Given the description of an element on the screen output the (x, y) to click on. 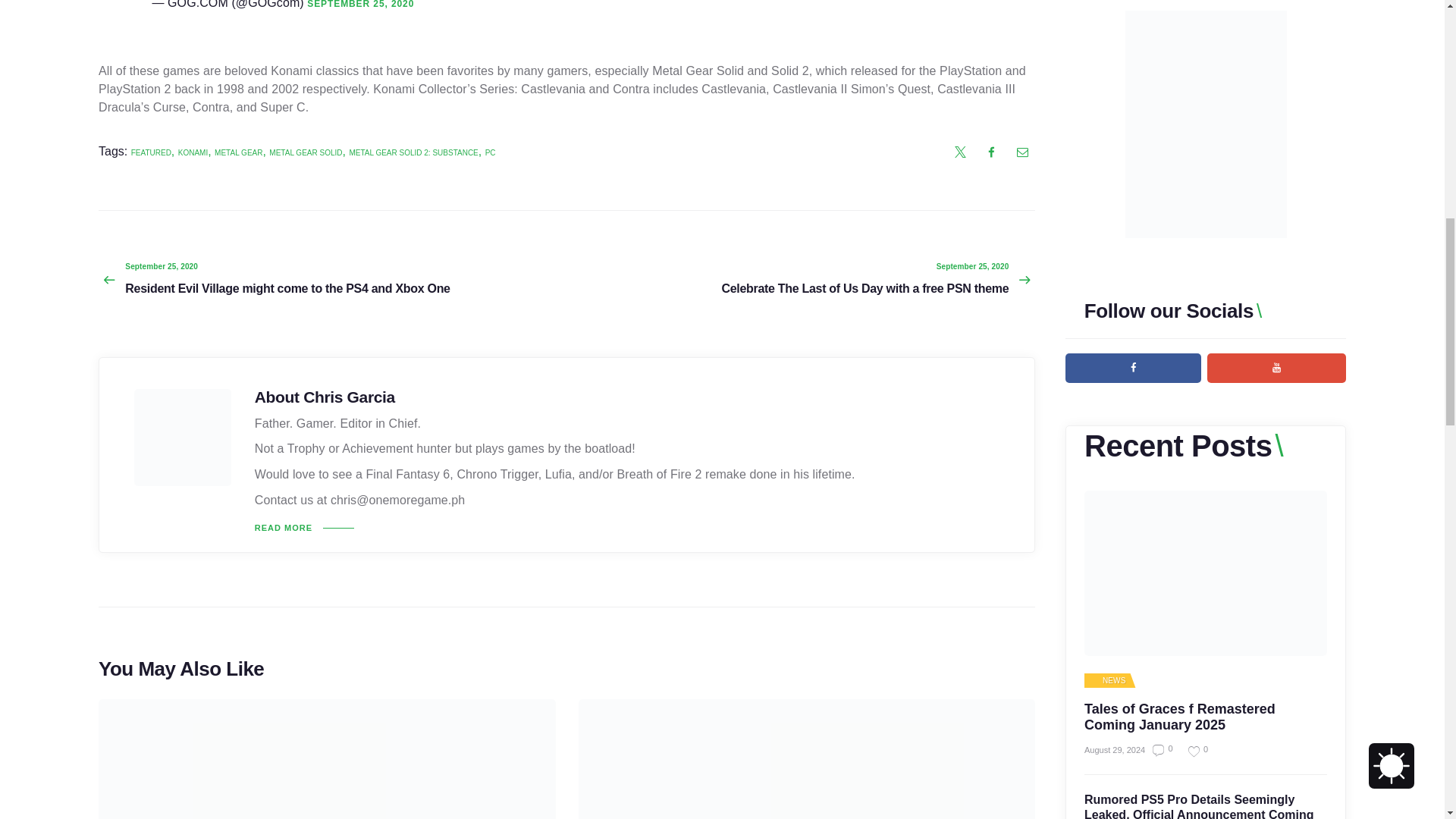
SEPTEMBER 25, 2020 (360, 4)
FEATURED (151, 152)
View all posts in News (1107, 680)
Like (1191, 750)
